Given the description of an element on the screen output the (x, y) to click on. 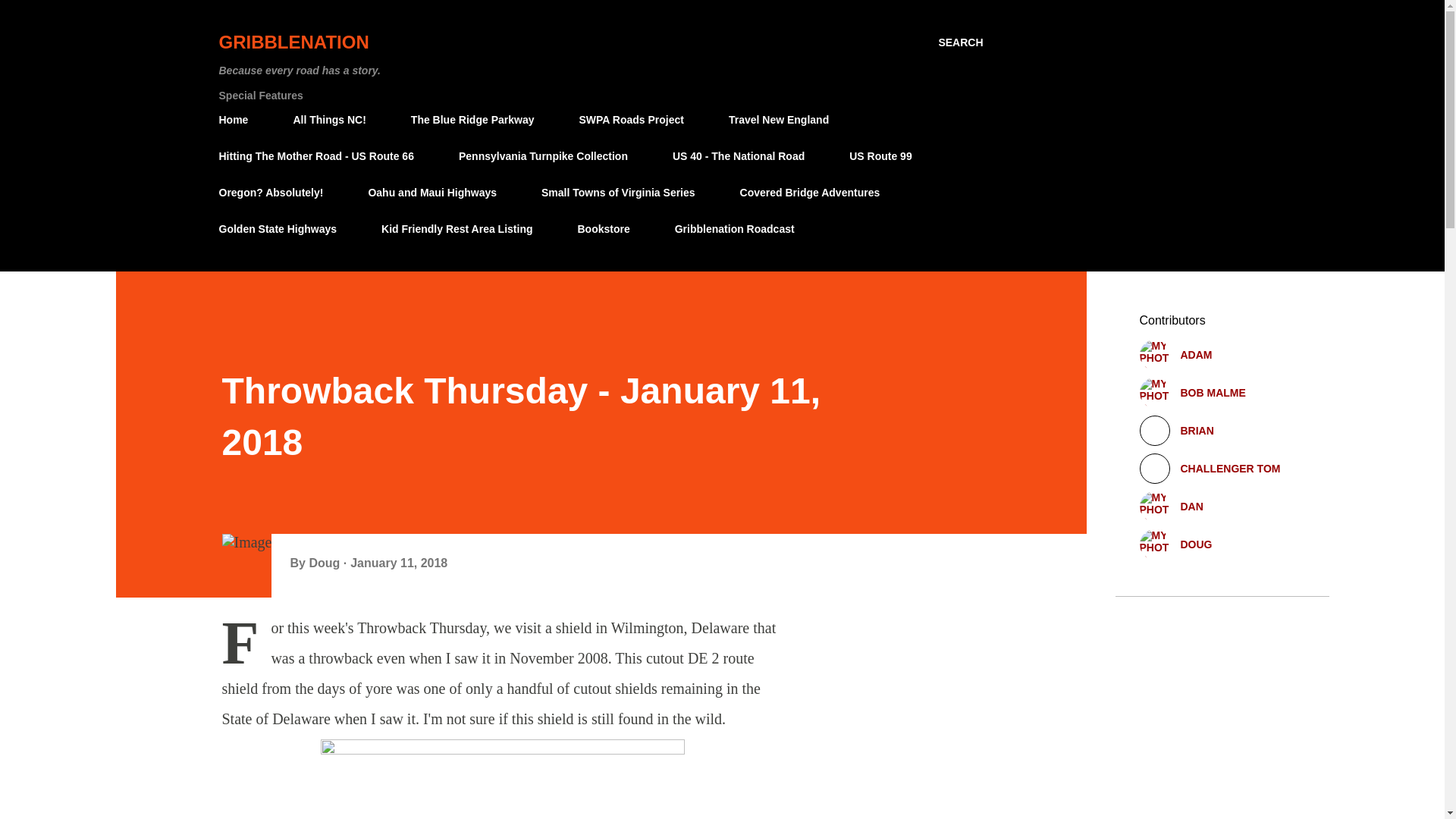
January 11, 2018 (398, 562)
Pennsylvania Turnpike Collection (543, 155)
Kid Friendly Rest Area Listing (456, 228)
Bookstore (604, 228)
US 40 - The National Road (738, 155)
Home (237, 119)
Doug (325, 562)
SWPA Roads Project (631, 119)
Hitting The Mother Road - US Route 66 (320, 155)
US Route 99 (880, 155)
